Given the description of an element on the screen output the (x, y) to click on. 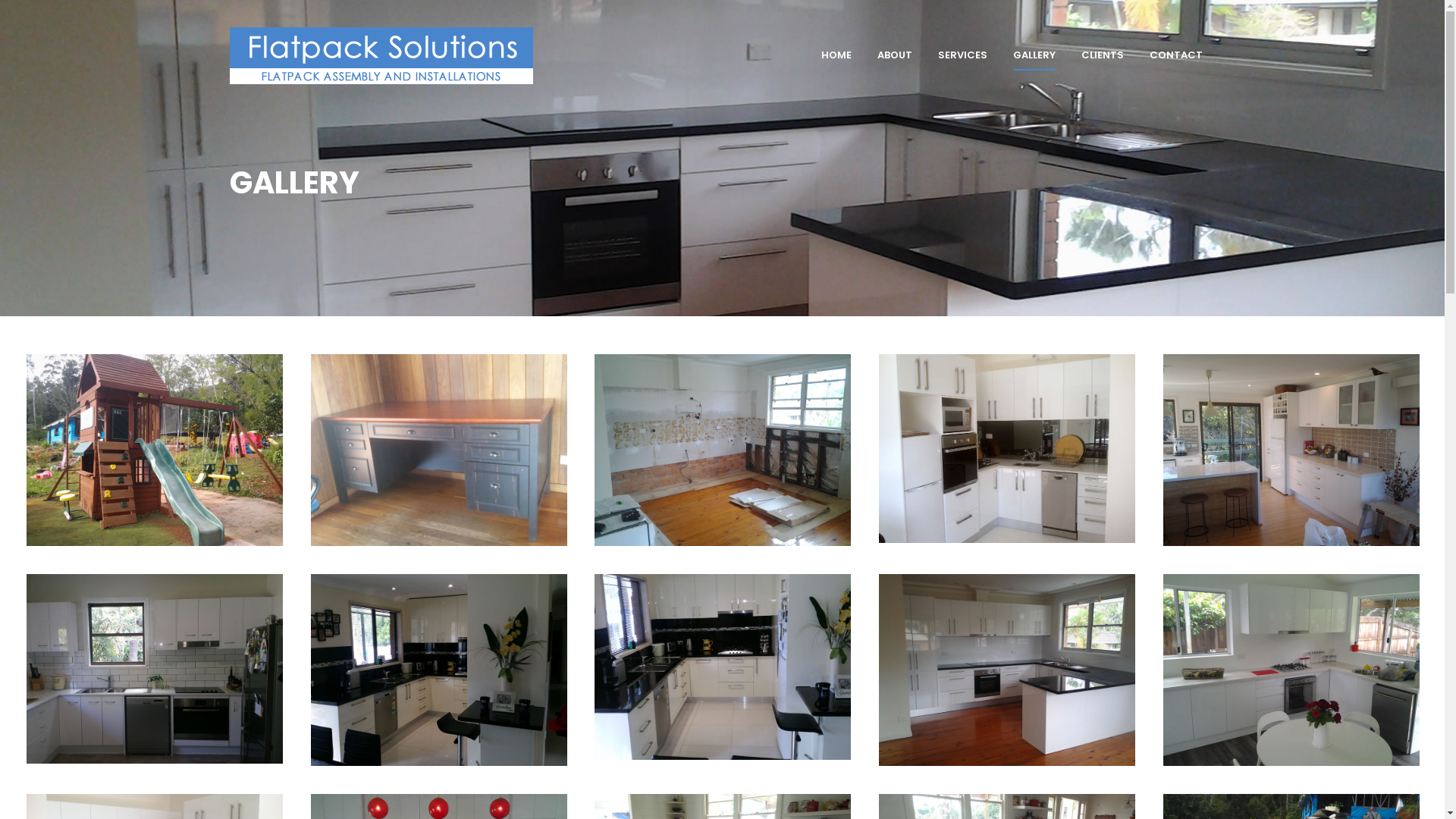
ABOUT Element type: text (894, 55)
CONTACT Element type: text (1174, 55)
SERVICES Element type: text (962, 55)
CLIENTS Element type: text (1101, 55)
GALLERY Element type: text (1033, 55)
HOME Element type: text (836, 55)
